Given the description of an element on the screen output the (x, y) to click on. 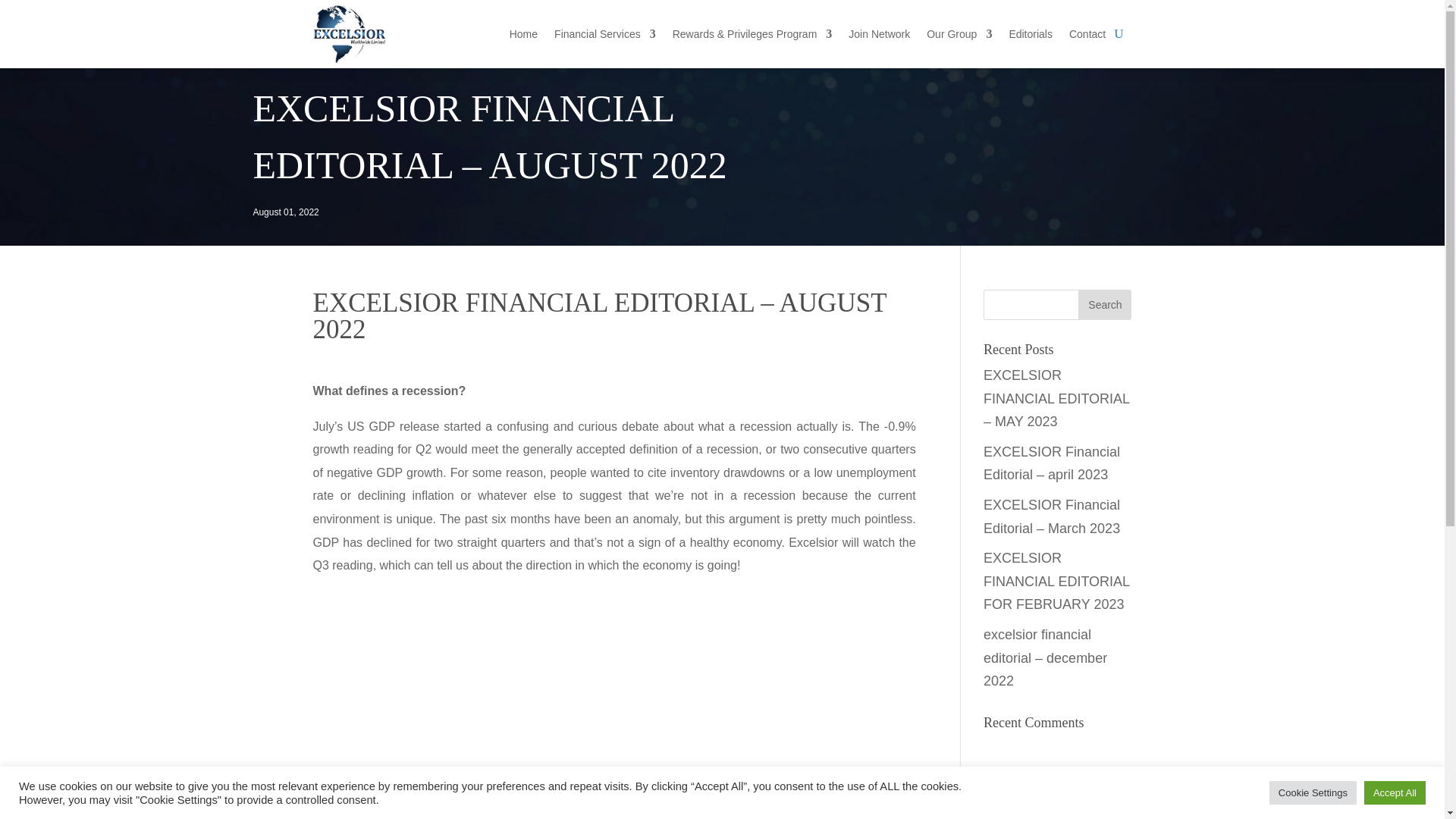
Our Group (958, 34)
Search (1104, 304)
Join Network (879, 34)
EXCELSIOR FINANCIAL EDITORIAL FOR FEBRUARY 2023 (1056, 580)
Editorials (1030, 34)
Search (1104, 304)
Contact (1086, 34)
Home (523, 34)
Financial Services (605, 34)
